Given the description of an element on the screen output the (x, y) to click on. 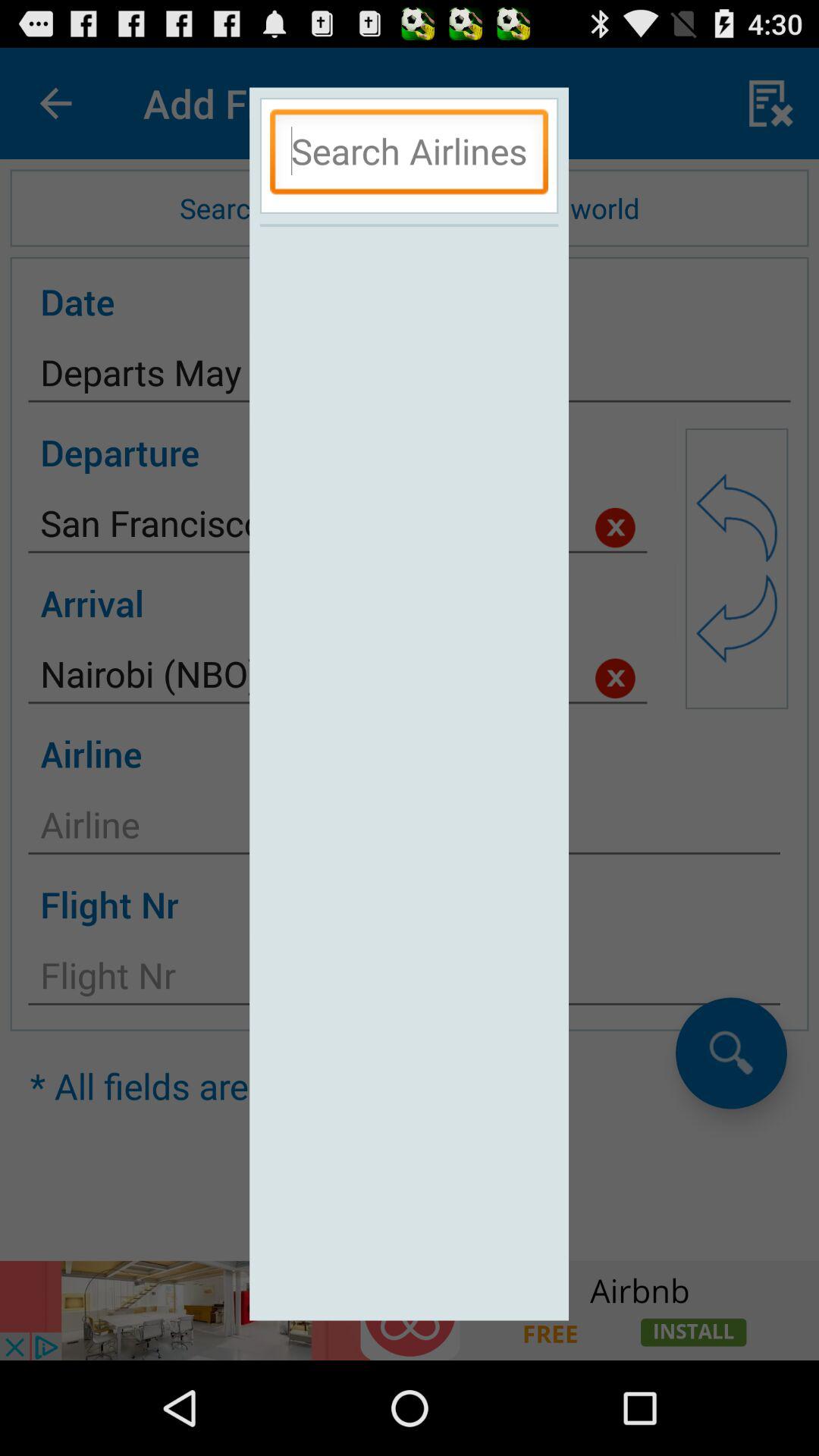
choose the item at the top (409, 155)
